Given the description of an element on the screen output the (x, y) to click on. 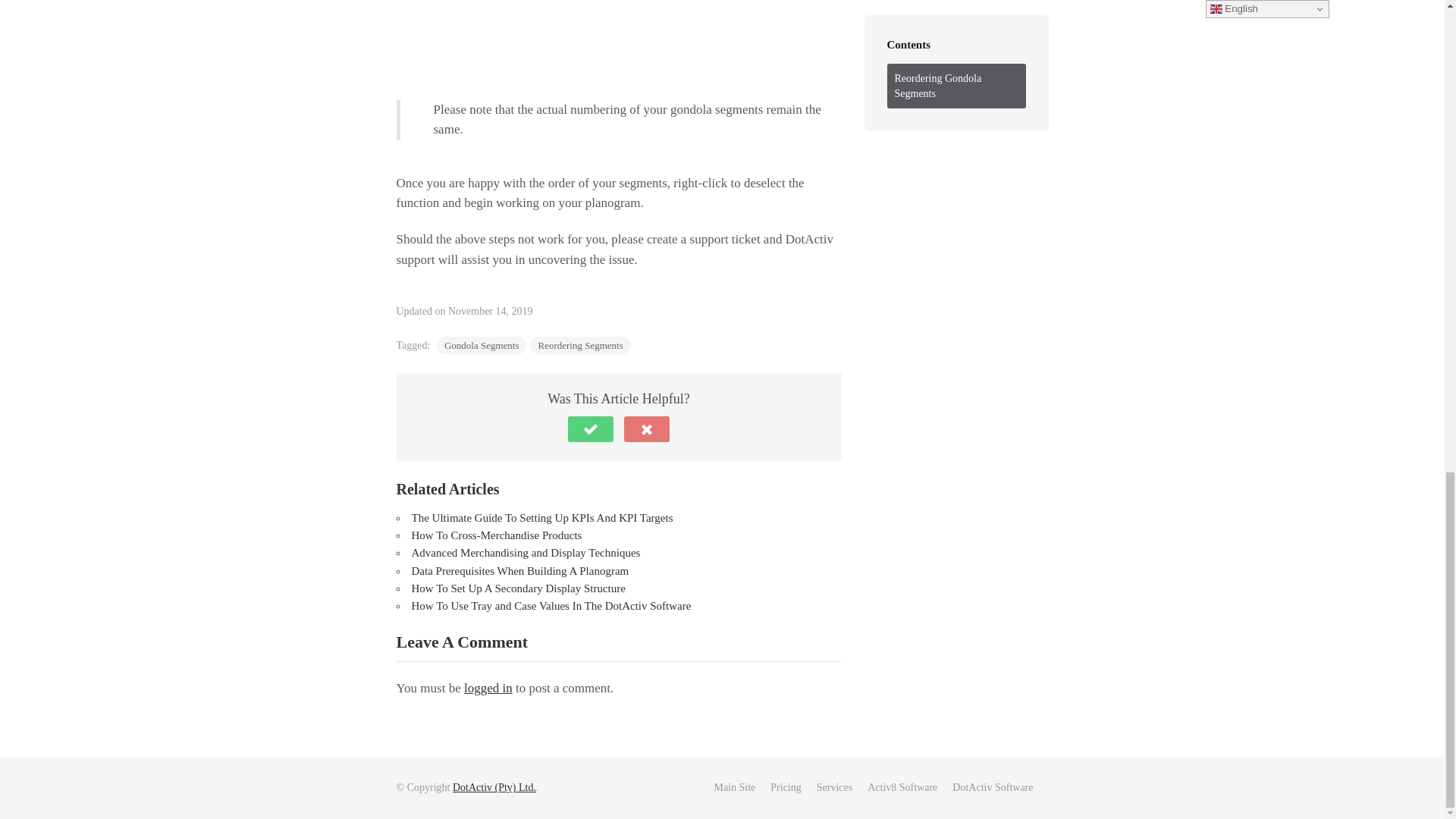
Main Site (734, 787)
Data Prerequisites When Building A Planogram (519, 571)
Advanced Merchandising and Display Techniques (525, 552)
Reordering Segments (579, 344)
The Ultimate Guide To Setting Up KPIs And KPI Targets (541, 517)
How To Use Tray and Case Values In The DotActiv Software (550, 605)
How To Cross-Merchandise Products (495, 535)
logged in (488, 687)
How To Set Up A Secondary Display Structure (517, 588)
Gondola Segments (481, 344)
